Given the description of an element on the screen output the (x, y) to click on. 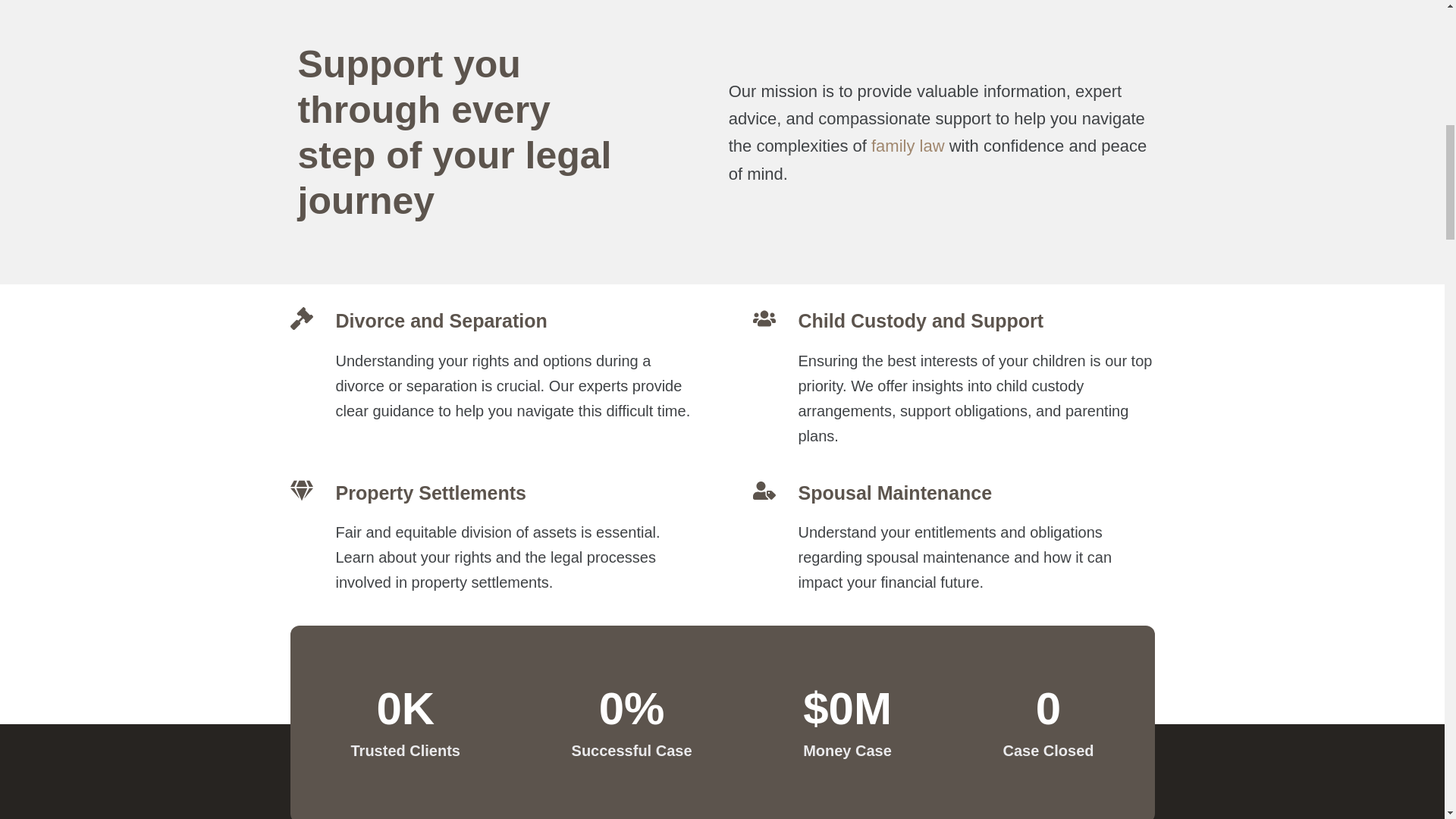
family law (907, 145)
